Given the description of an element on the screen output the (x, y) to click on. 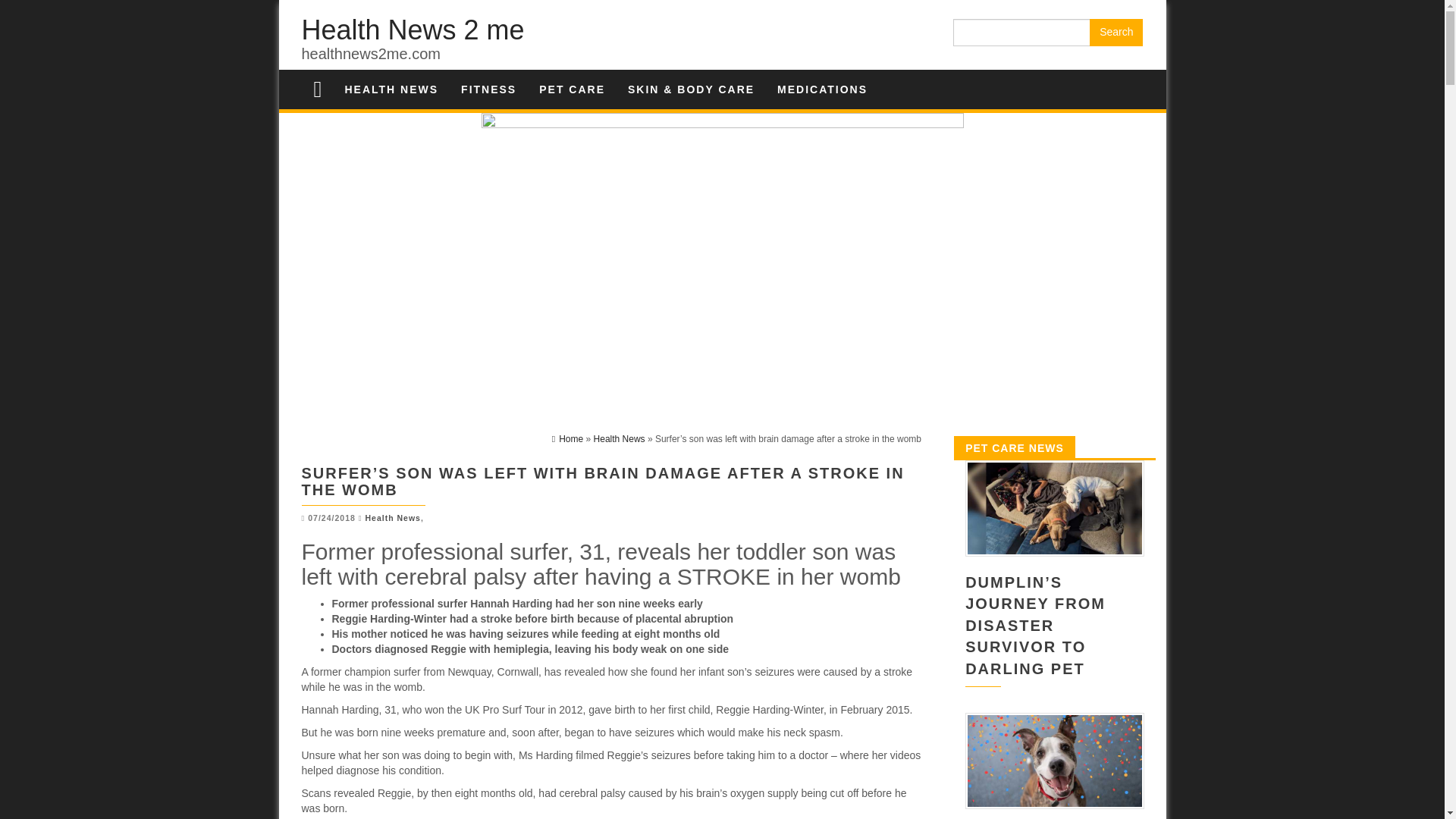
Home (567, 439)
PET CARE (571, 89)
FITNESS (488, 89)
Fitness (488, 89)
Health News (391, 89)
Pet Care (571, 89)
MEDICATIONS (822, 89)
View all posts in Health News (392, 517)
Medications (822, 89)
Search (1115, 31)
